Given the description of an element on the screen output the (x, y) to click on. 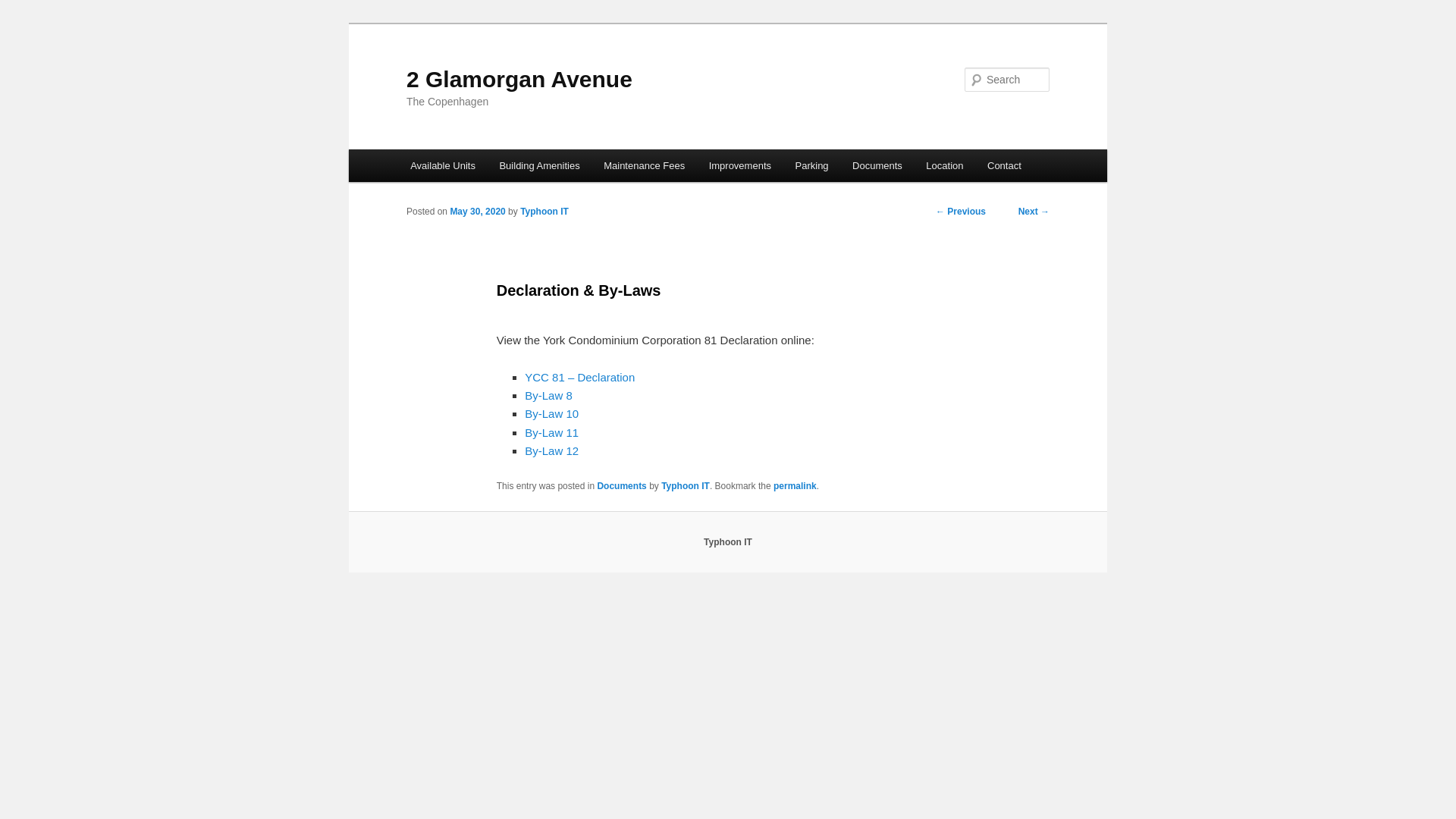
Parking Element type: text (811, 165)
Documents Element type: text (876, 165)
Typhoon IT Element type: text (544, 211)
Typhoon IT Element type: text (685, 485)
Available Units Element type: text (442, 165)
Contact Element type: text (1003, 165)
Improvements Element type: text (739, 165)
May 30, 2020 Element type: text (477, 211)
Building Amenities Element type: text (539, 165)
permalink Element type: text (794, 485)
Location Element type: text (944, 165)
By-Law 12 Element type: text (551, 450)
By-Law 11 Element type: text (551, 432)
Skip to primary content Element type: text (420, 149)
Maintenance Fees Element type: text (643, 165)
Documents Element type: text (621, 485)
By-Law 10 Element type: text (551, 413)
Search Element type: text (24, 8)
Typhoon IT Element type: text (727, 541)
By-Law 8 Element type: text (548, 395)
2 Glamorgan Avenue Element type: text (519, 78)
